Given the description of an element on the screen output the (x, y) to click on. 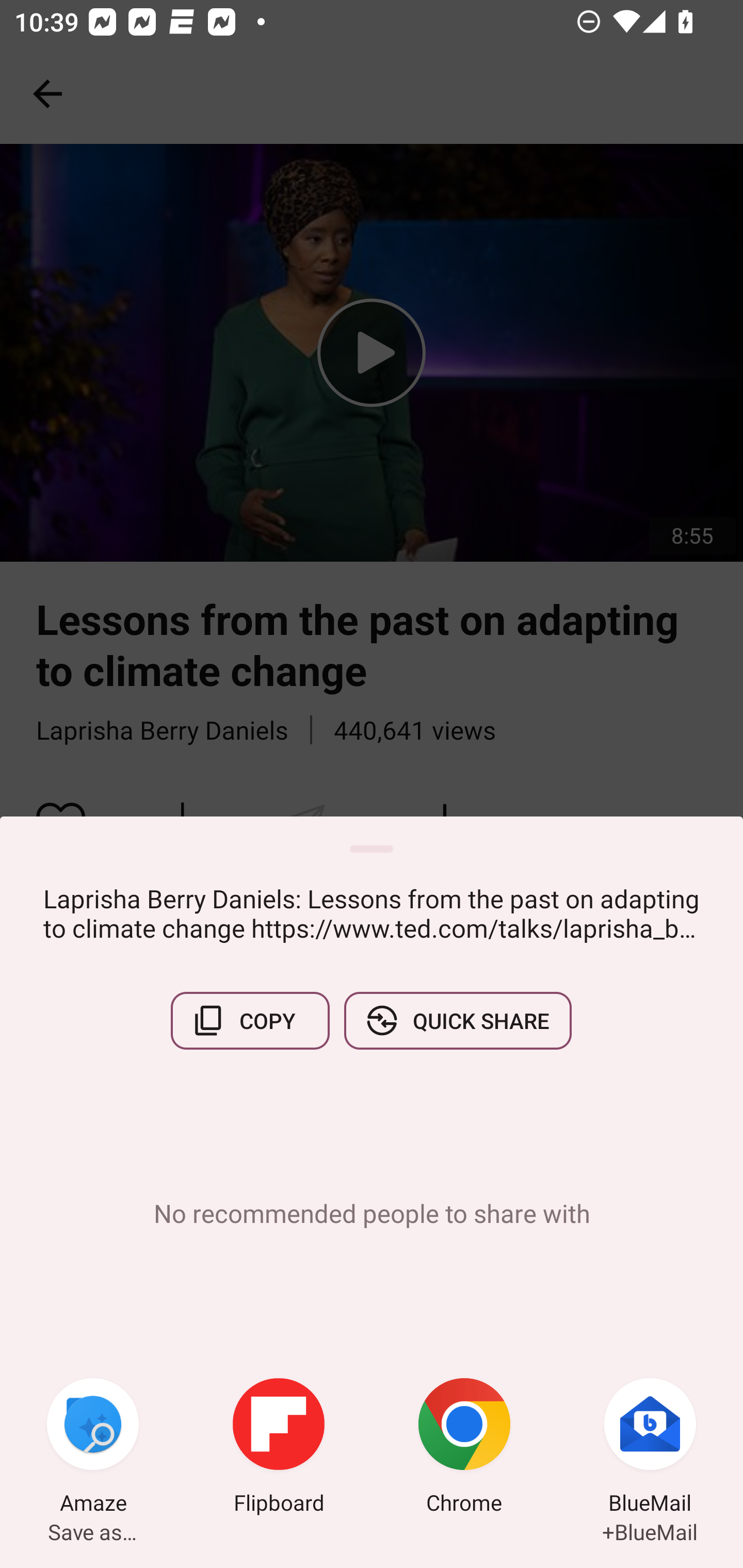
COPY (249, 1020)
QUICK SHARE (457, 1020)
Amaze Save as… (92, 1448)
Flipboard (278, 1448)
Chrome (464, 1448)
BlueMail +BlueMail (650, 1448)
